Given the description of an element on the screen output the (x, y) to click on. 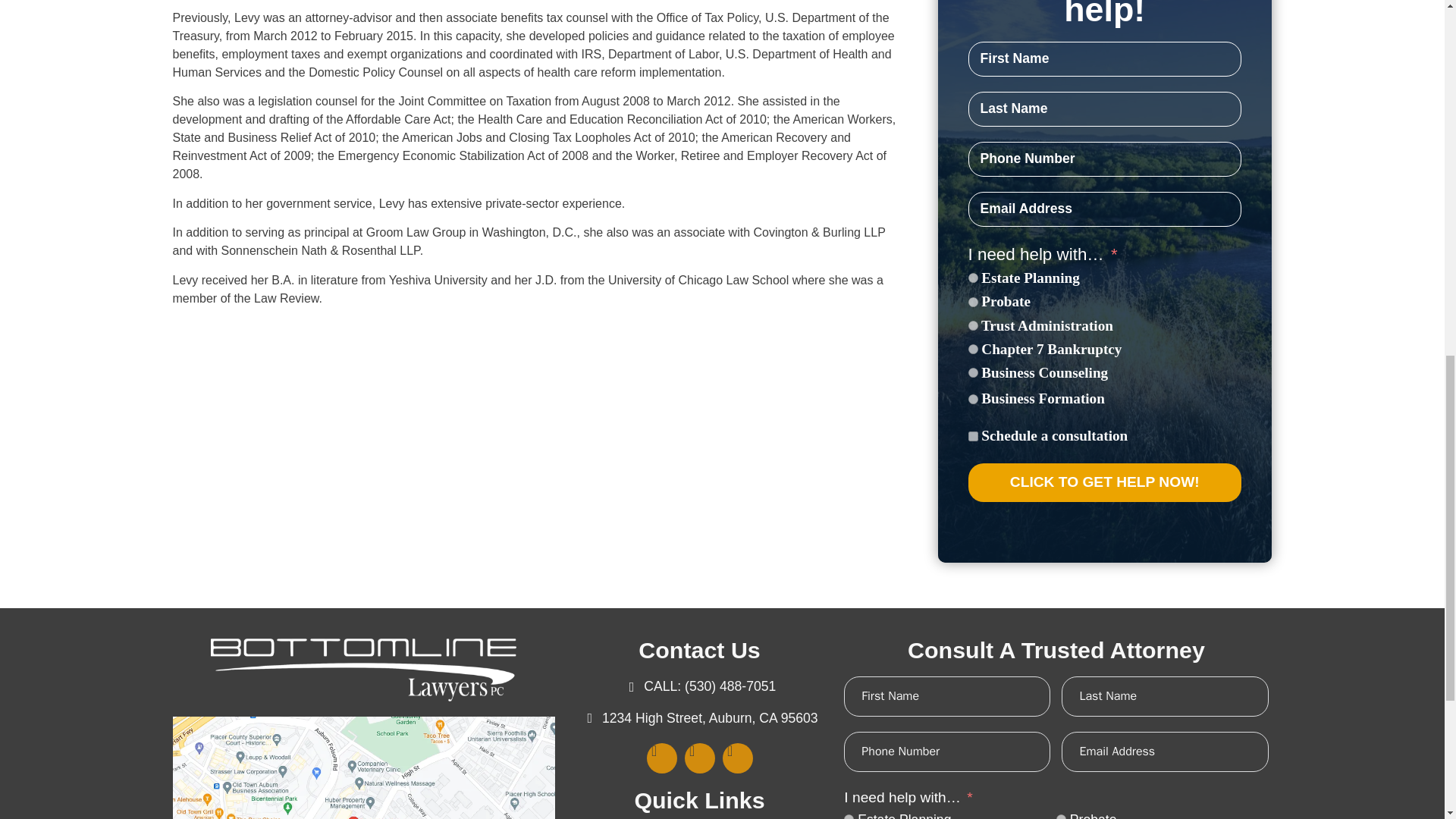
Business Counseling (972, 372)
Estate Planning (848, 816)
Probate (972, 302)
Schedule a consultation (972, 435)
Business Formation (972, 398)
Trust Administration (972, 325)
Estate Planning (972, 277)
Probate (1061, 816)
Chapter 7 Bankruptcy (972, 348)
